Given the description of an element on the screen output the (x, y) to click on. 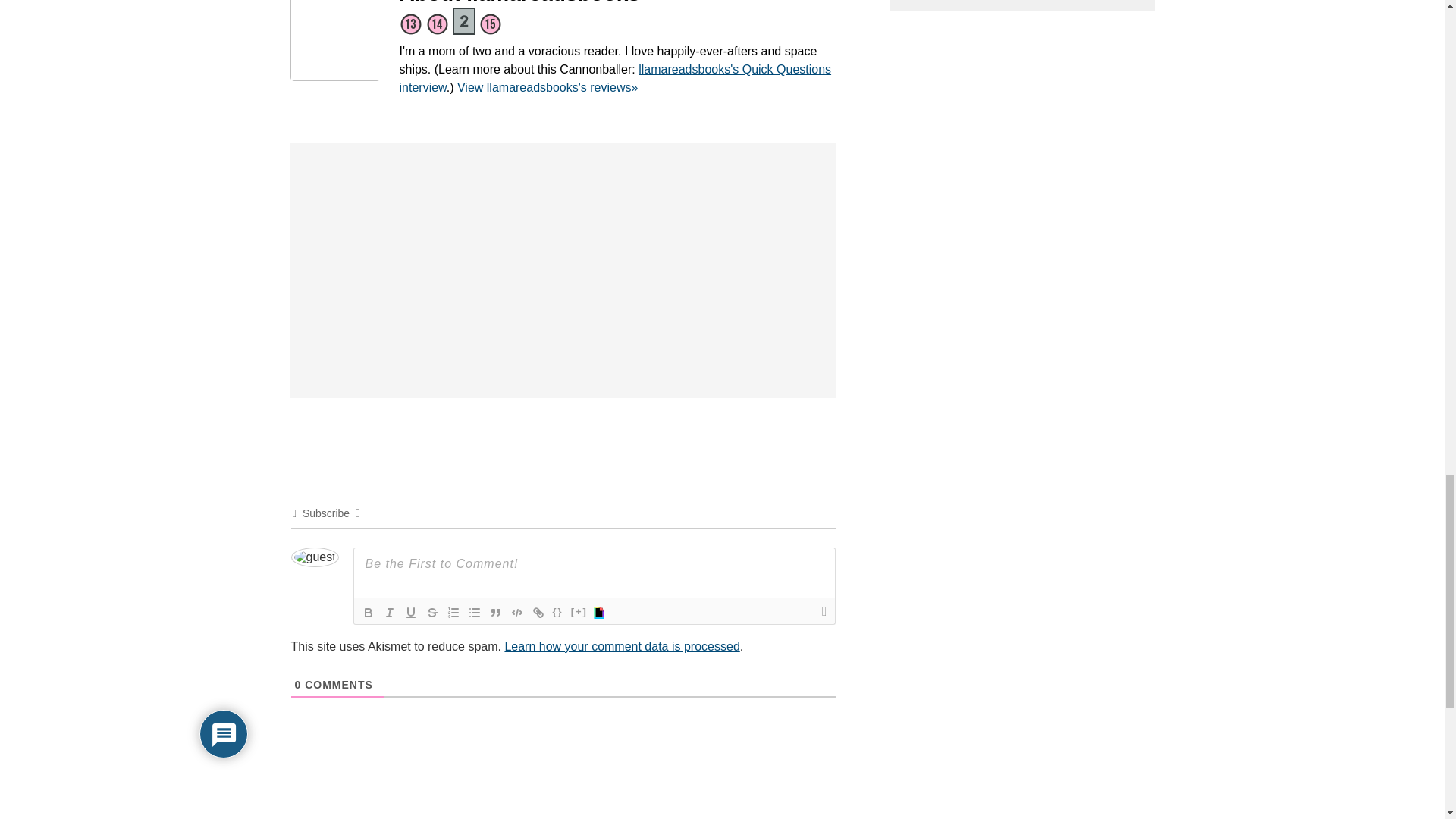
Bold (368, 612)
Ordered List (453, 612)
Unordered List (474, 612)
Underline (411, 612)
Blockquote (495, 612)
Strike (432, 612)
Italic (389, 612)
